Given the description of an element on the screen output the (x, y) to click on. 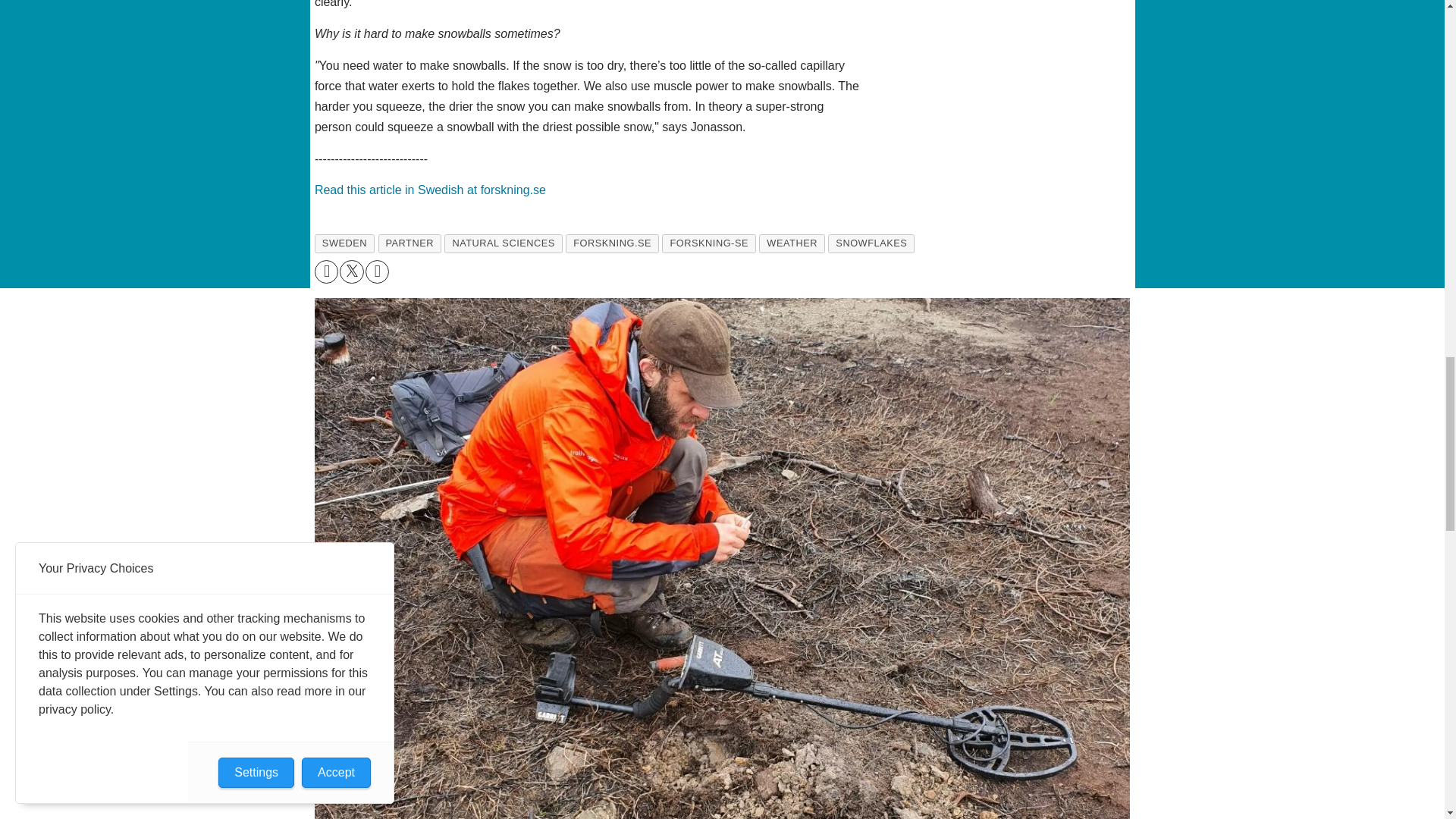
FORSKNING-SE (708, 243)
SWEDEN (344, 243)
Read this article in Swedish at forskning.se (430, 189)
WEATHER (791, 243)
FORSKNING.SE (612, 243)
SNOWFLAKES (871, 243)
PARTNER (409, 243)
NATURAL SCIENCES (503, 243)
